Given the description of an element on the screen output the (x, y) to click on. 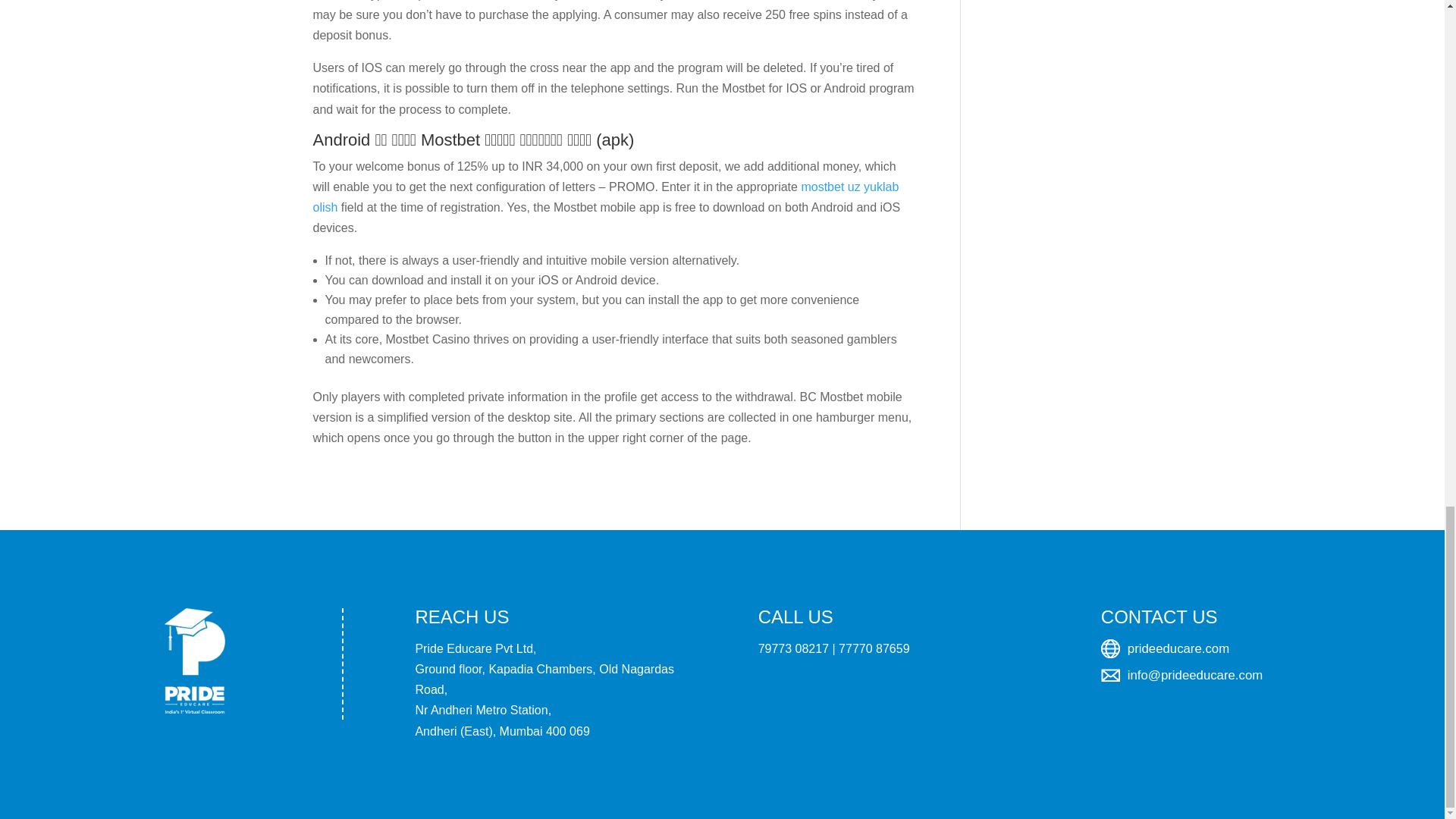
77770 87659 (873, 648)
79773 08217 (793, 648)
prideeducare.com (1181, 648)
mostbet uz yuklab olish (605, 196)
